Given the description of an element on the screen output the (x, y) to click on. 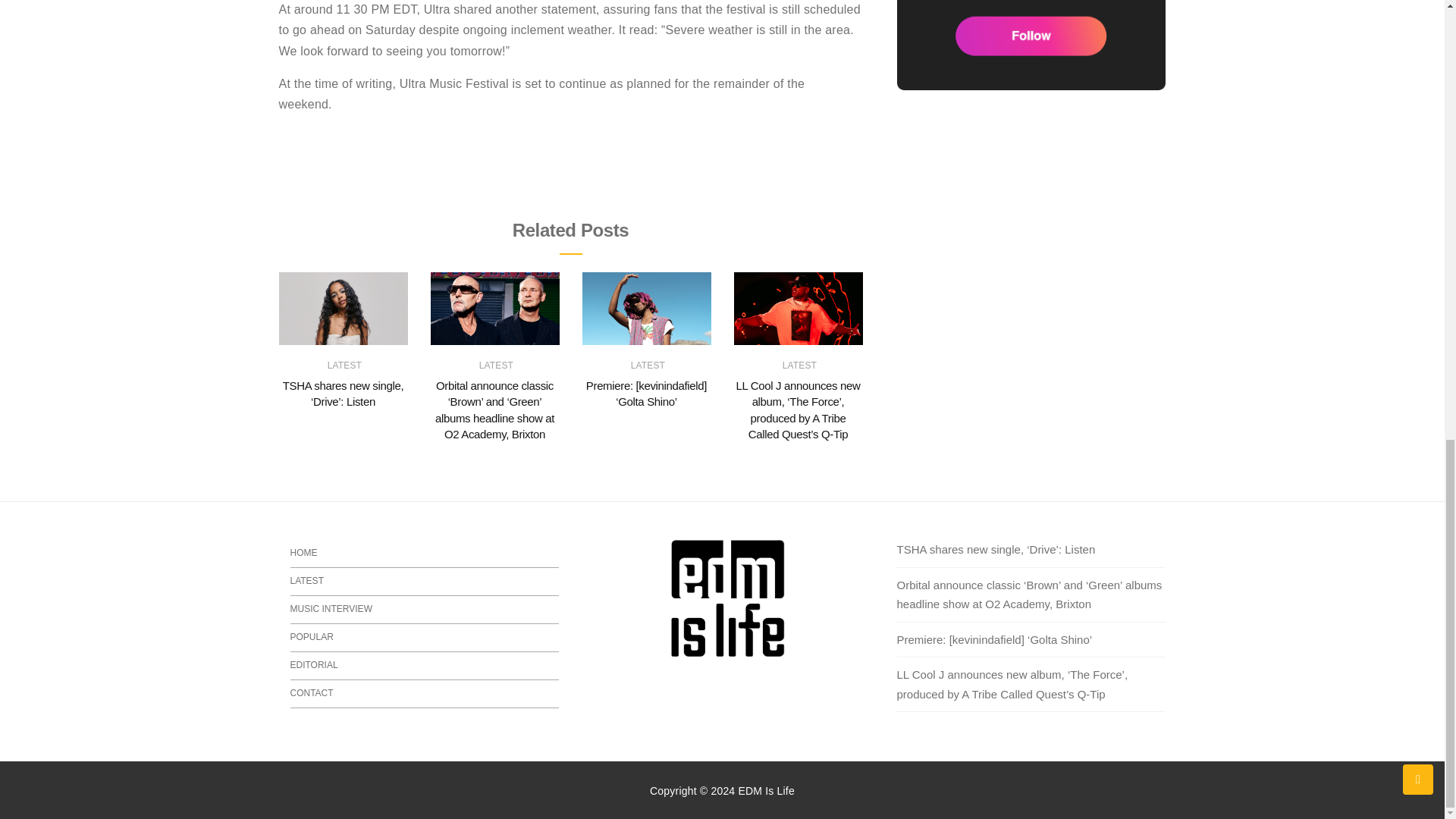
LATEST (496, 365)
LATEST (799, 365)
LATEST (647, 365)
LATEST (344, 365)
